Given the description of an element on the screen output the (x, y) to click on. 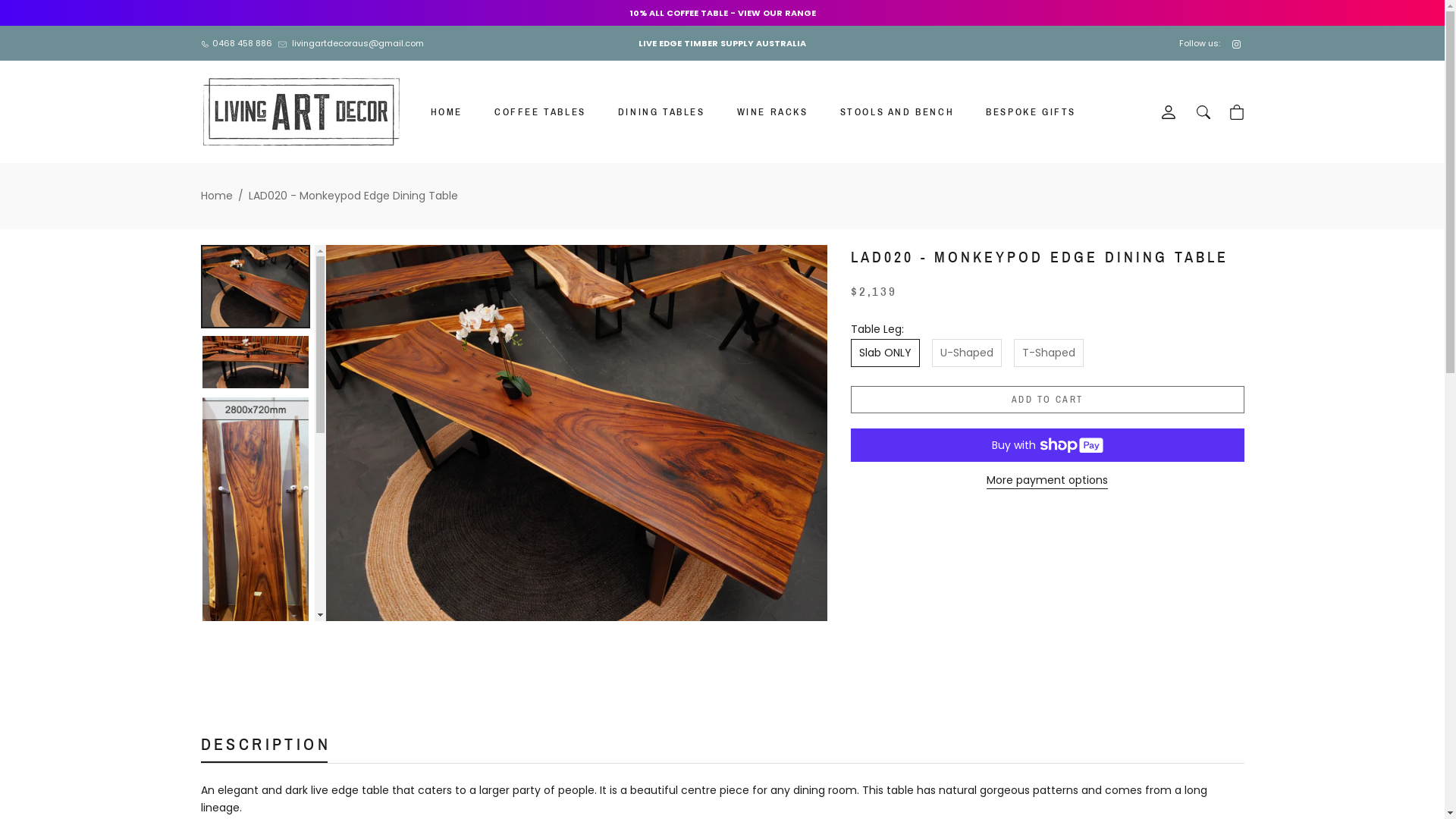
WINE RACKS
WINE RACKS Element type: text (772, 111)
VIEW OUR RANGE Element type: text (776, 12)
ADD TO CART Element type: text (1047, 399)
LAD020 - Monkeypod Edge Dining Table Element type: text (353, 195)
BESPOKE GIFTS
BESPOKE GIFTS Element type: text (1030, 111)
DESCRIPTION Element type: text (264, 746)
0468 458 886 Element type: text (235, 43)
HOME
HOME Element type: text (446, 111)
COFFEE TABLES
COFFEE TABLES Element type: text (540, 111)
Home Element type: text (216, 195)
STOOLS AND BENCH
STOOLS AND BENCH Element type: text (897, 111)
DINING TABLES
DINING TABLES Element type: text (661, 111)
livingartdecoraus@gmail.com Element type: text (350, 43)
More payment options Element type: text (1046, 480)
